Given the description of an element on the screen output the (x, y) to click on. 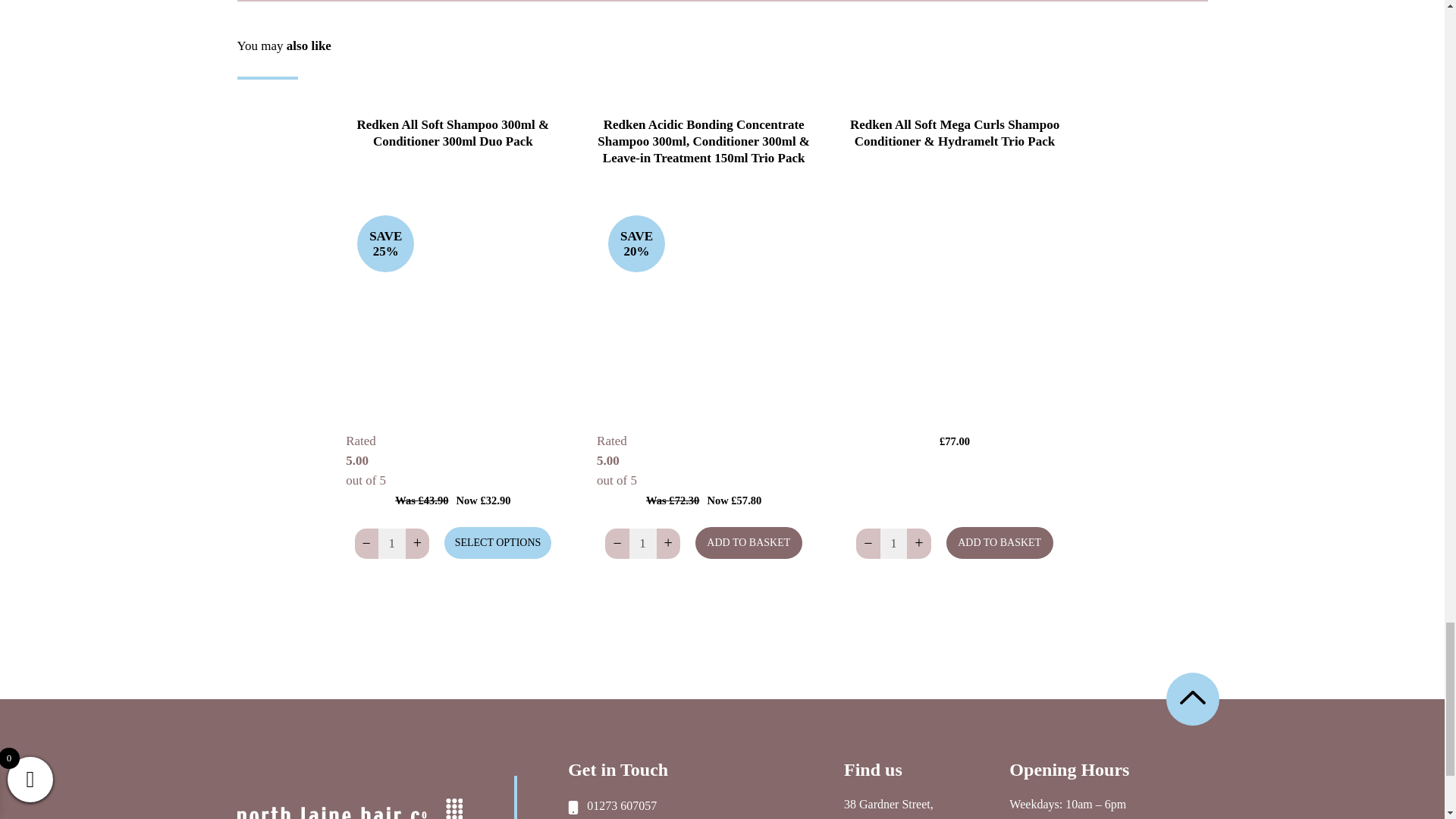
1 (391, 543)
1 (642, 543)
1 (892, 543)
